Given the description of an element on the screen output the (x, y) to click on. 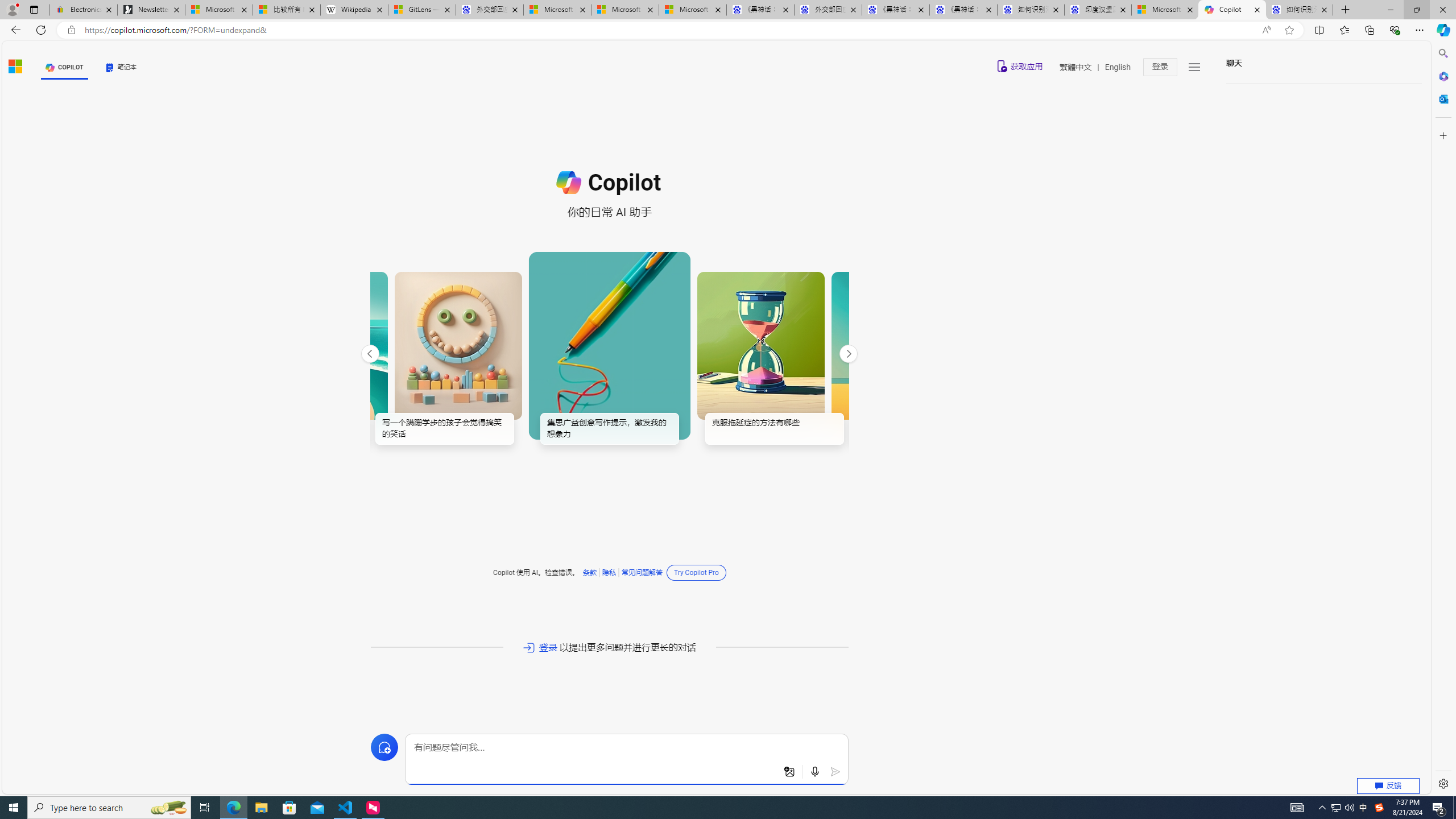
COPILOT (64, 67)
